Given the description of an element on the screen output the (x, y) to click on. 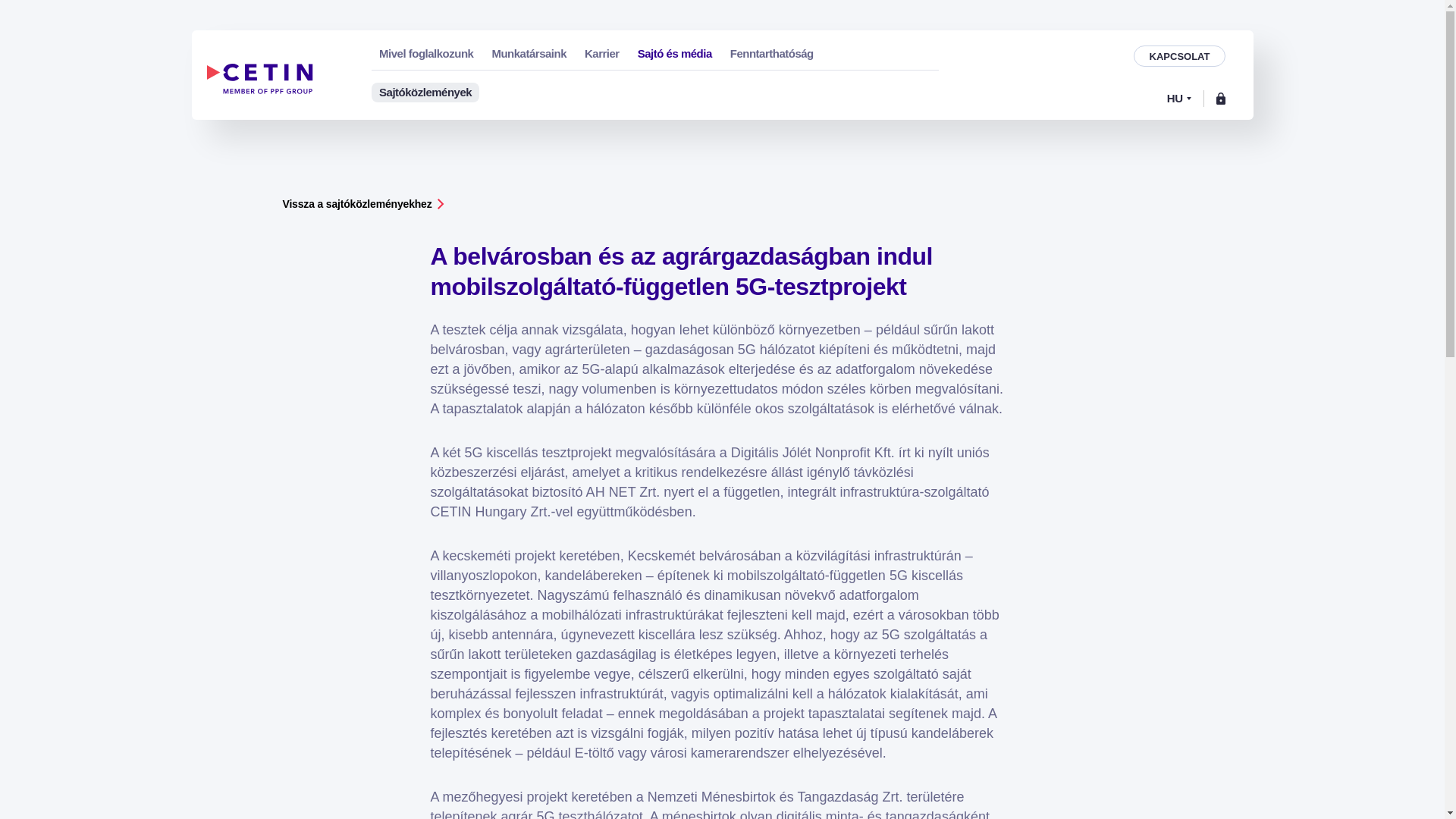
Karrier (602, 52)
Mivel foglalkozunk (425, 52)
KAPCSOLAT (1179, 55)
